Given the description of an element on the screen output the (x, y) to click on. 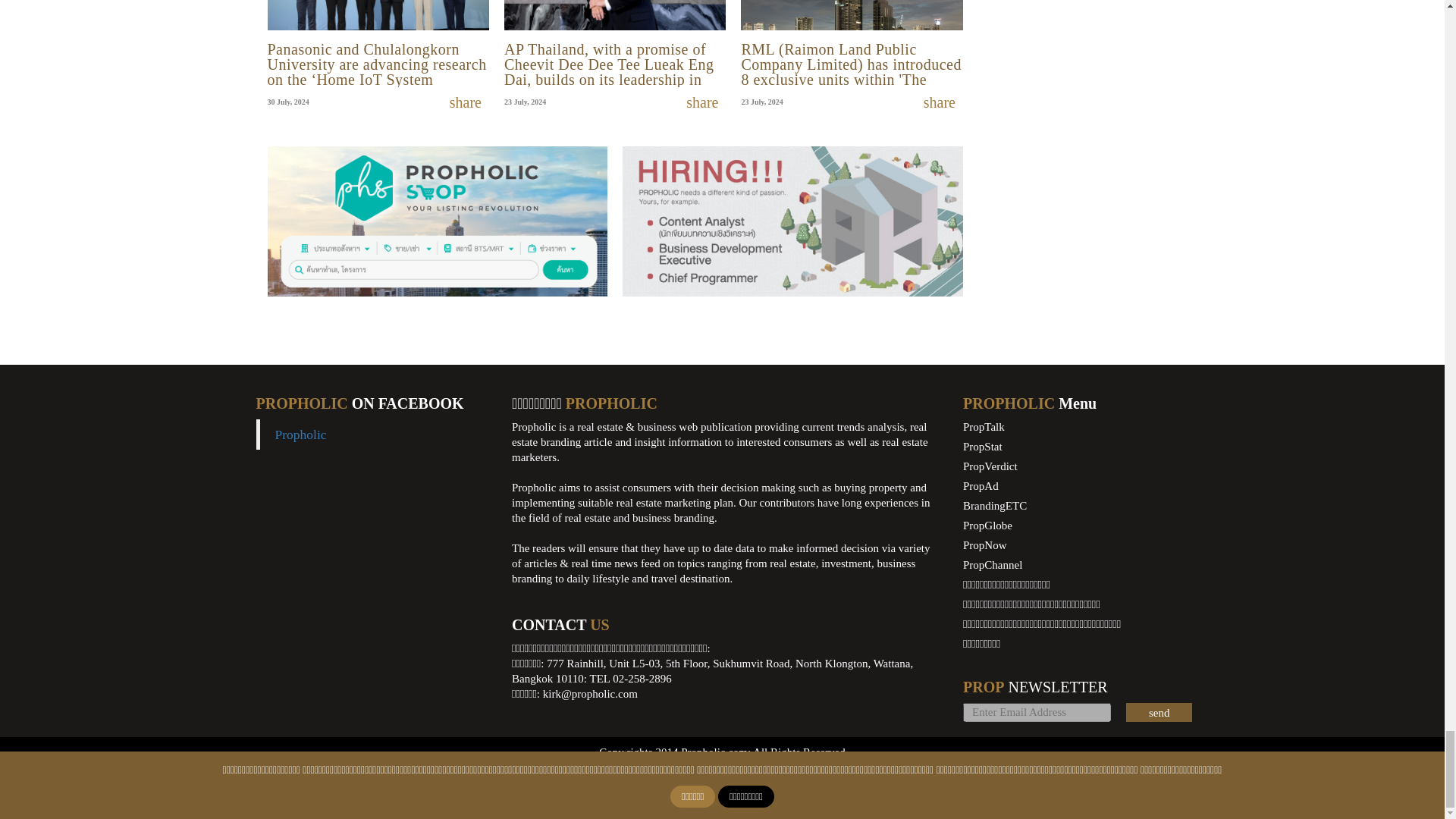
send (1158, 711)
